Given the description of an element on the screen output the (x, y) to click on. 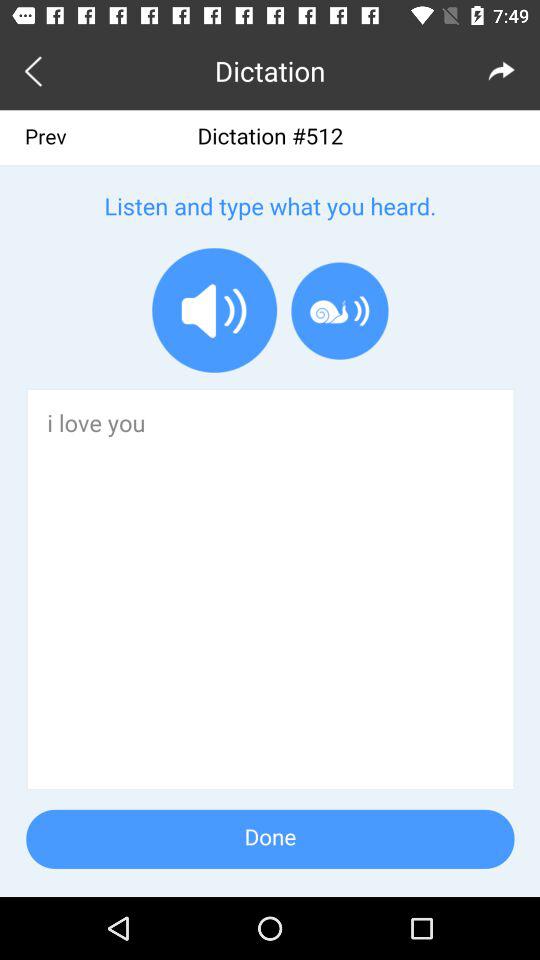
click to share option (502, 70)
